Given the description of an element on the screen output the (x, y) to click on. 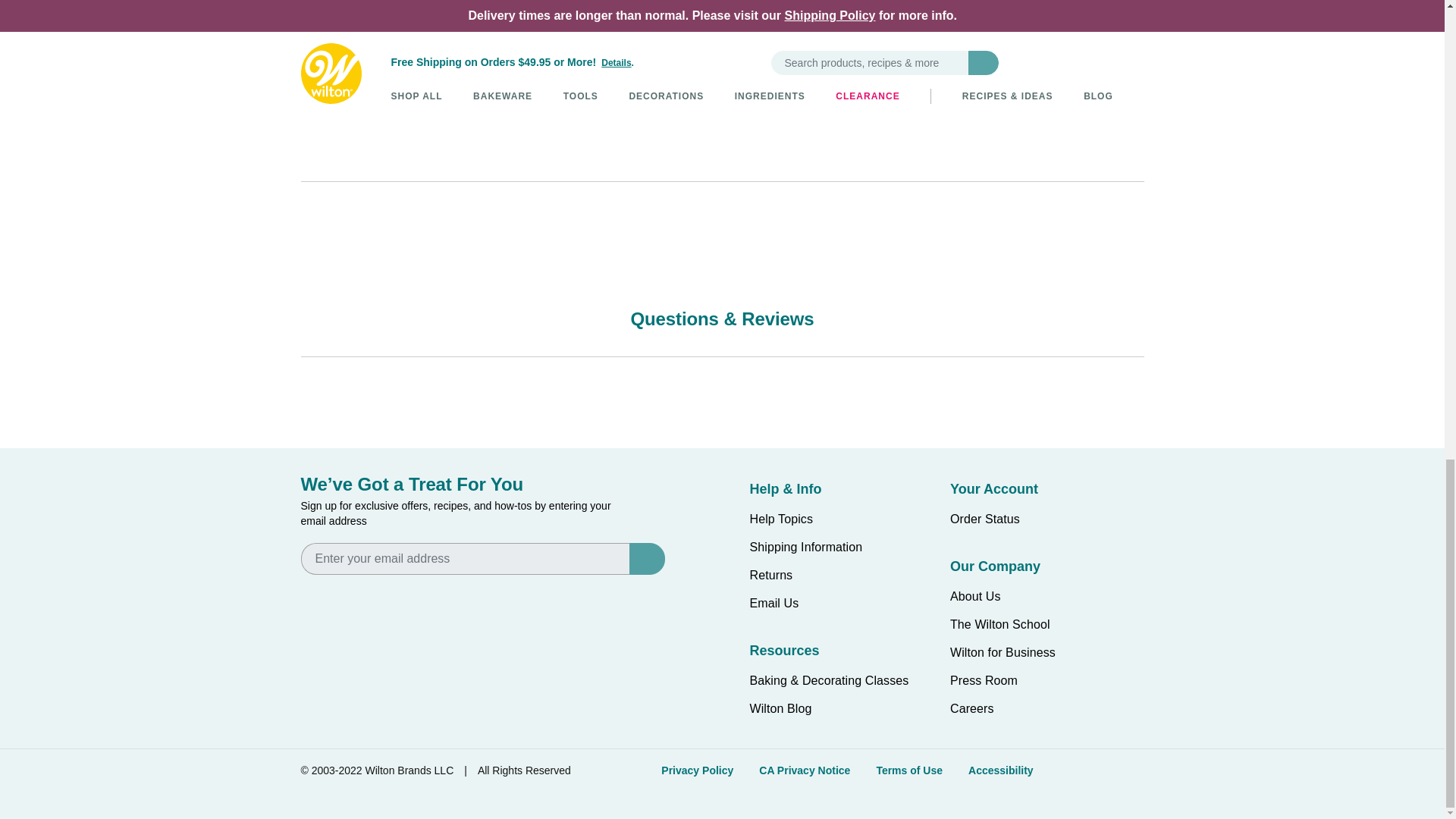
Go to Instagram (360, 594)
Submit newsletter form (644, 558)
Go to Facebook (311, 594)
